Given the description of an element on the screen output the (x, y) to click on. 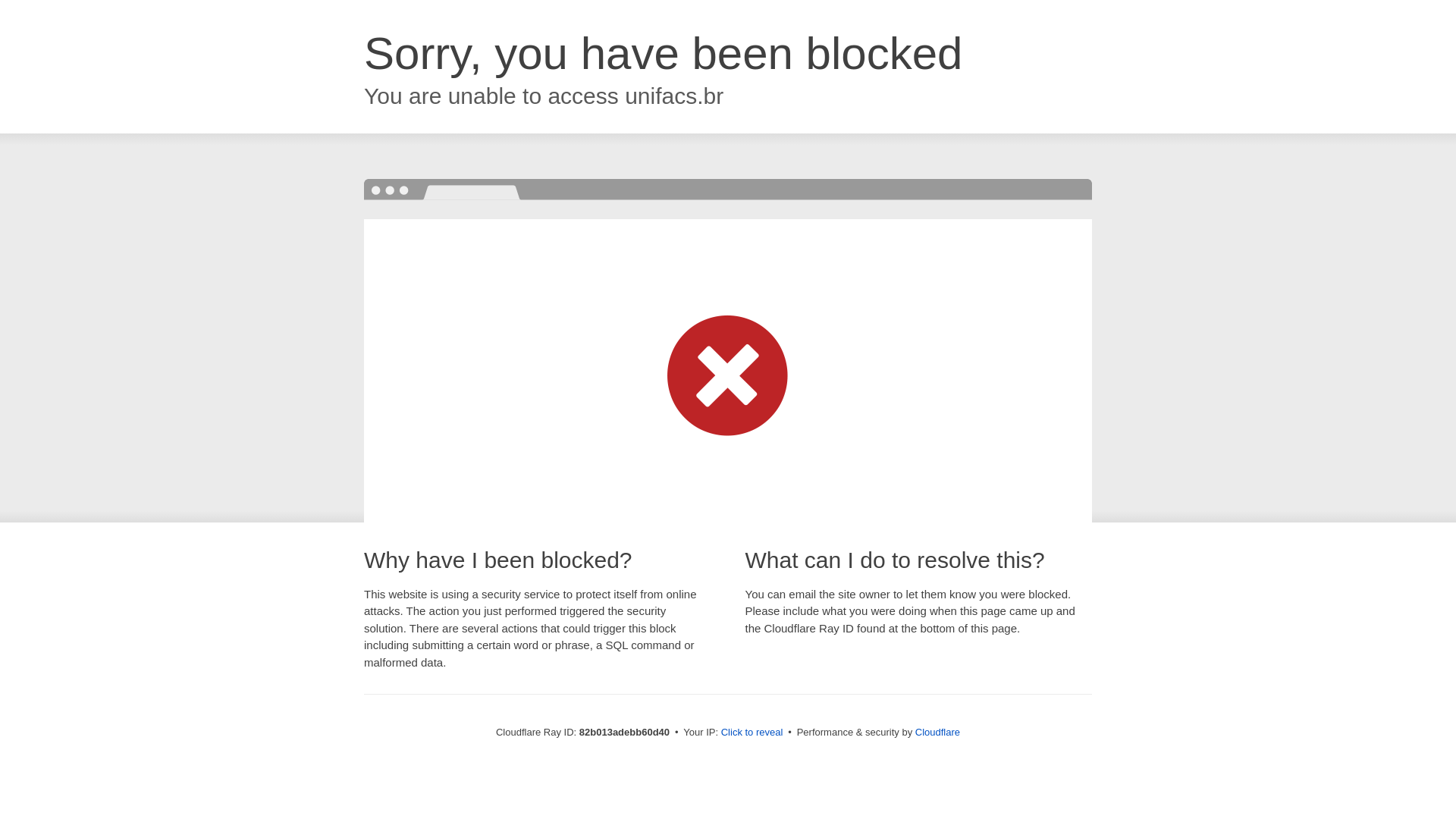
Cloudflare Element type: text (937, 731)
Click to reveal Element type: text (752, 732)
